Given the description of an element on the screen output the (x, y) to click on. 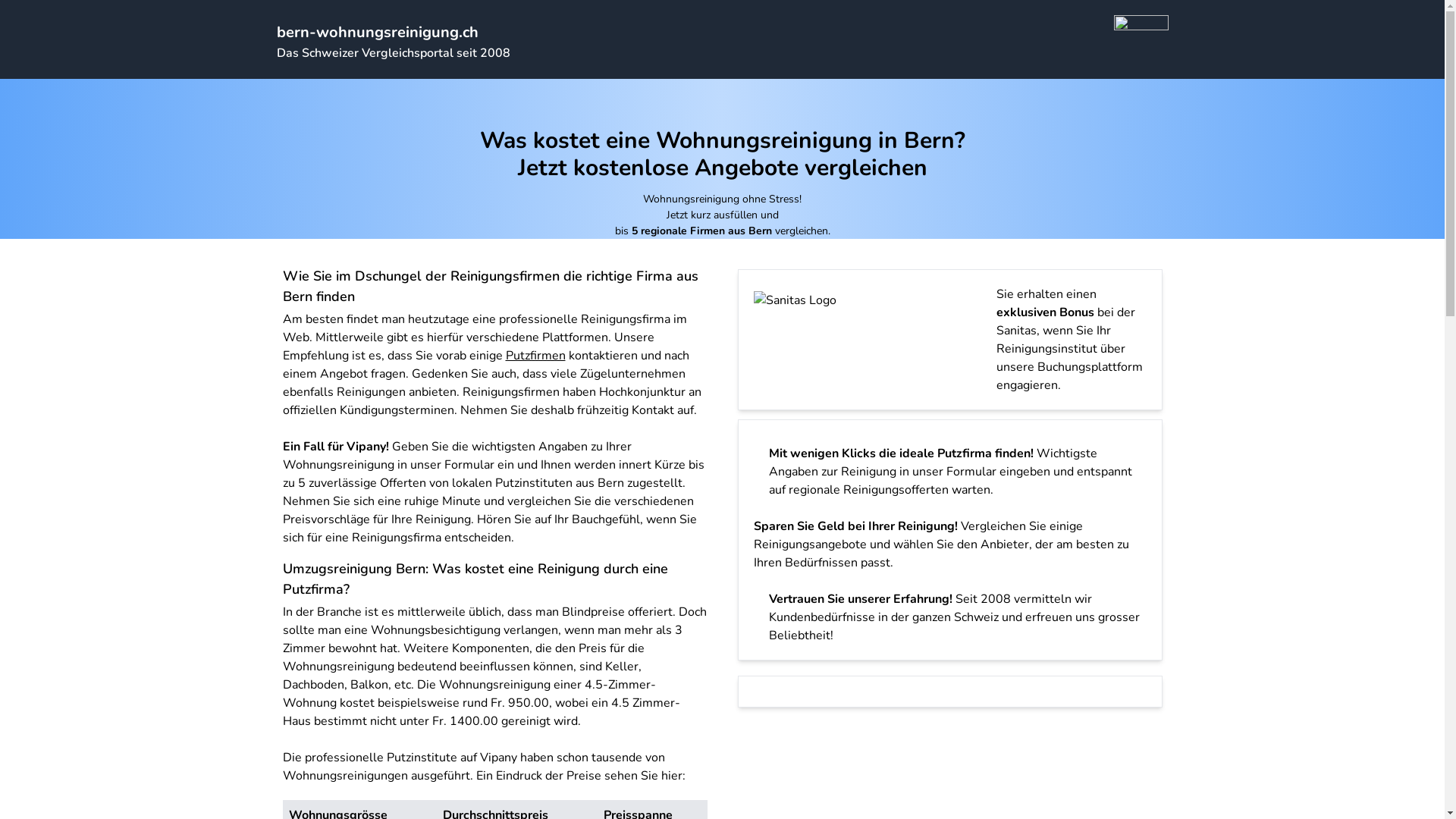
Putzfirmen Element type: text (534, 355)
bern-wohnungsreinigung.ch Element type: text (376, 31)
